Given the description of an element on the screen output the (x, y) to click on. 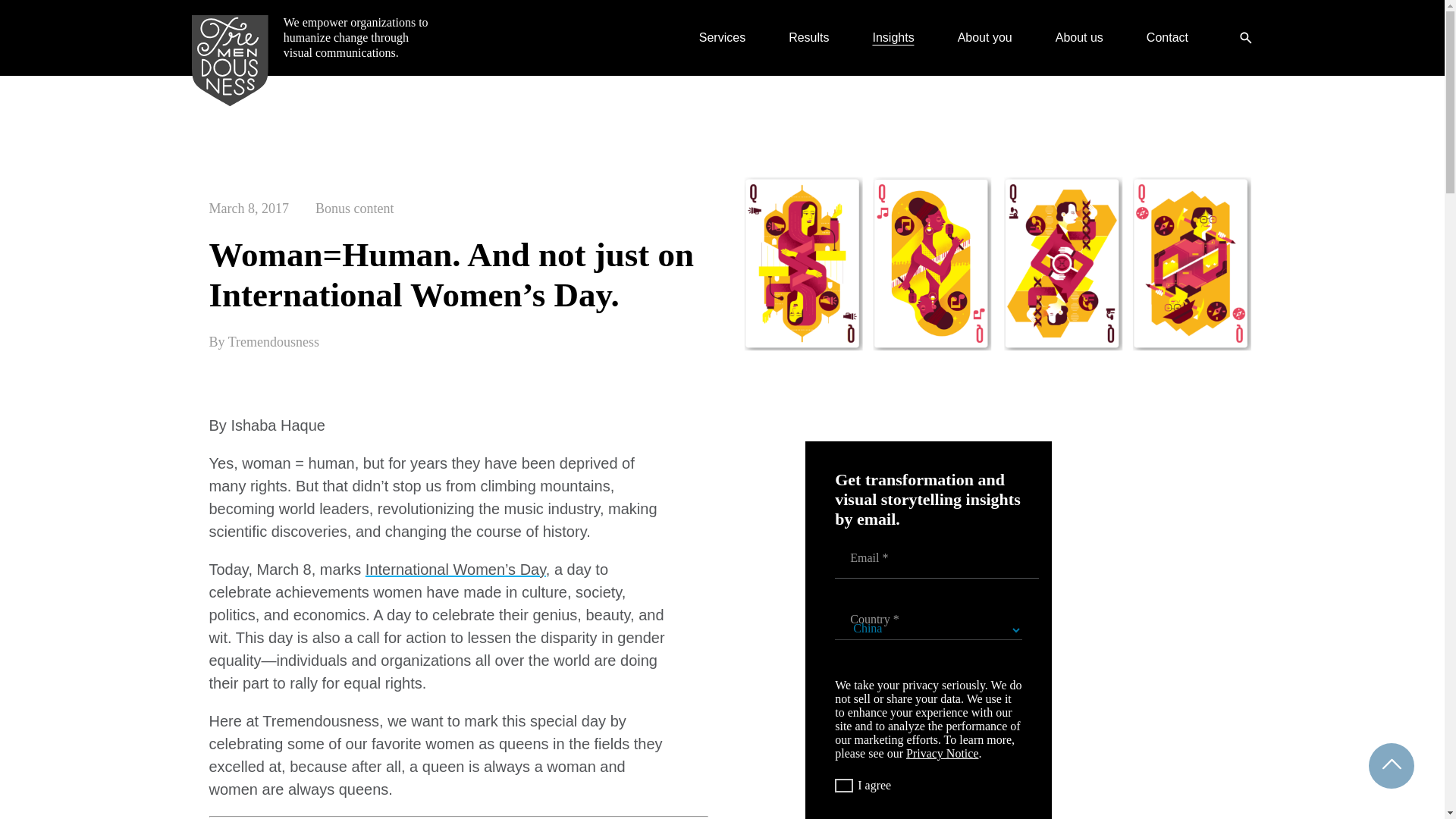
Results (808, 37)
About us (1079, 37)
Insights (893, 37)
About you (984, 37)
1 (843, 785)
Services (721, 37)
Bonus content (354, 208)
Contact (1167, 37)
